Given the description of an element on the screen output the (x, y) to click on. 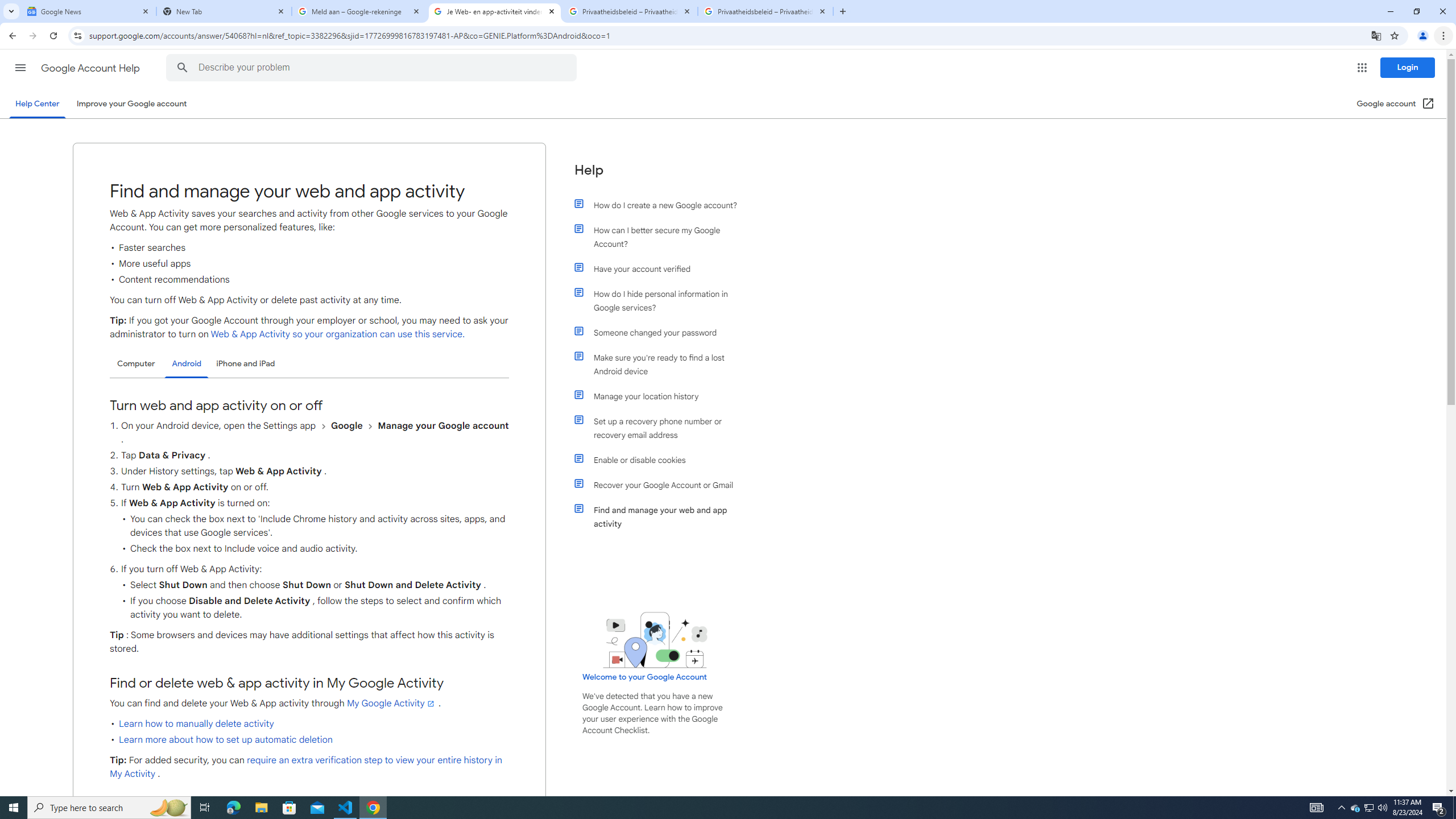
Manage your location history (661, 396)
Back (10, 35)
Learning Center home page image (655, 639)
Have your account verified (661, 268)
Android (186, 364)
Help (656, 174)
View site information (77, 35)
Enable or disable cookies (661, 459)
How can I better secure my Google Account? (661, 236)
Google apps (1362, 67)
Make sure you're ready to find a lost Android device (661, 364)
Address and search bar (726, 35)
New Tab (224, 11)
Google News (88, 11)
